Given the description of an element on the screen output the (x, y) to click on. 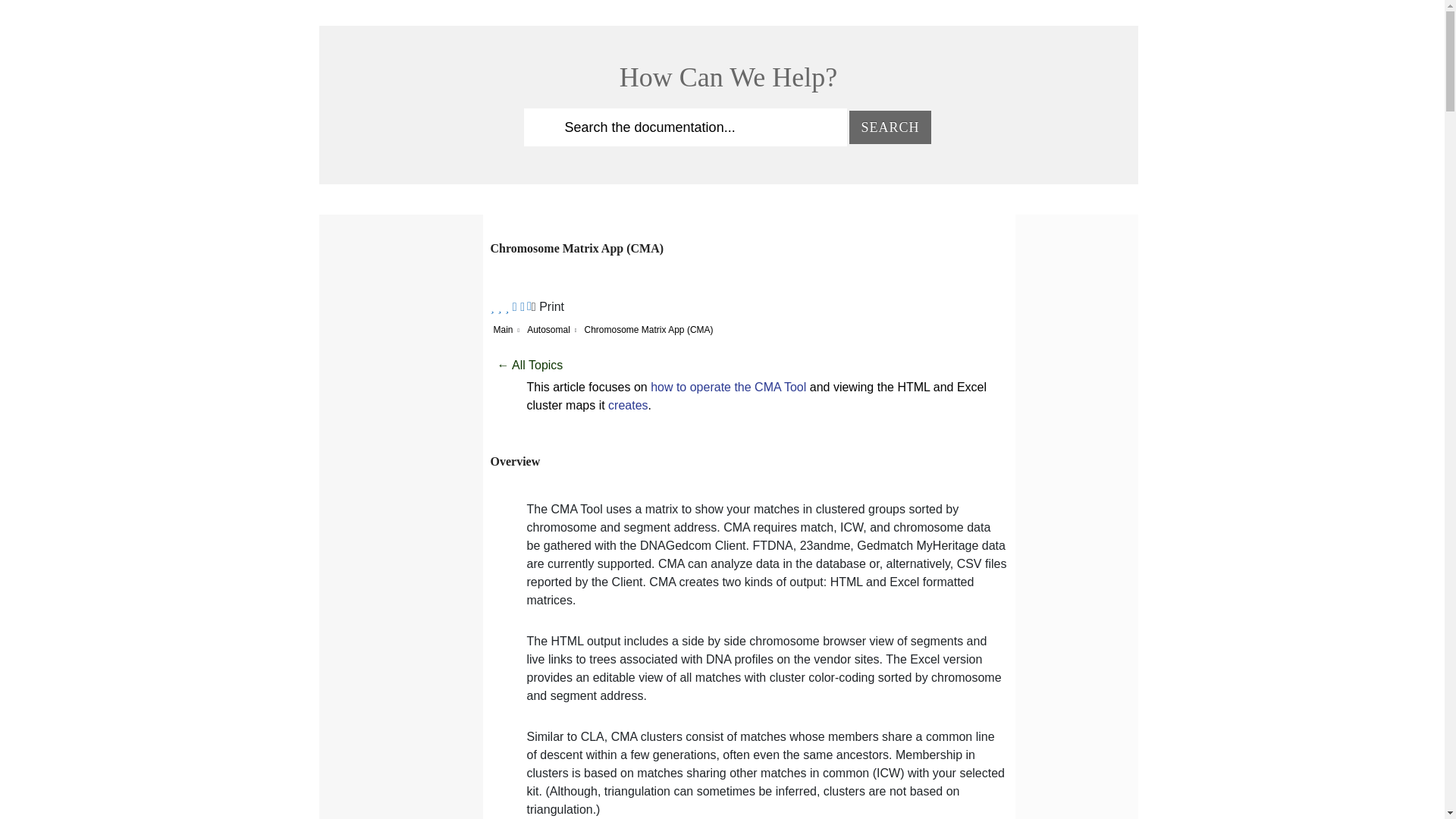
creates (627, 404)
Autosomal (548, 329)
Main (502, 329)
how to operate the CMA Tool (728, 386)
SEARCH (890, 127)
